Given the description of an element on the screen output the (x, y) to click on. 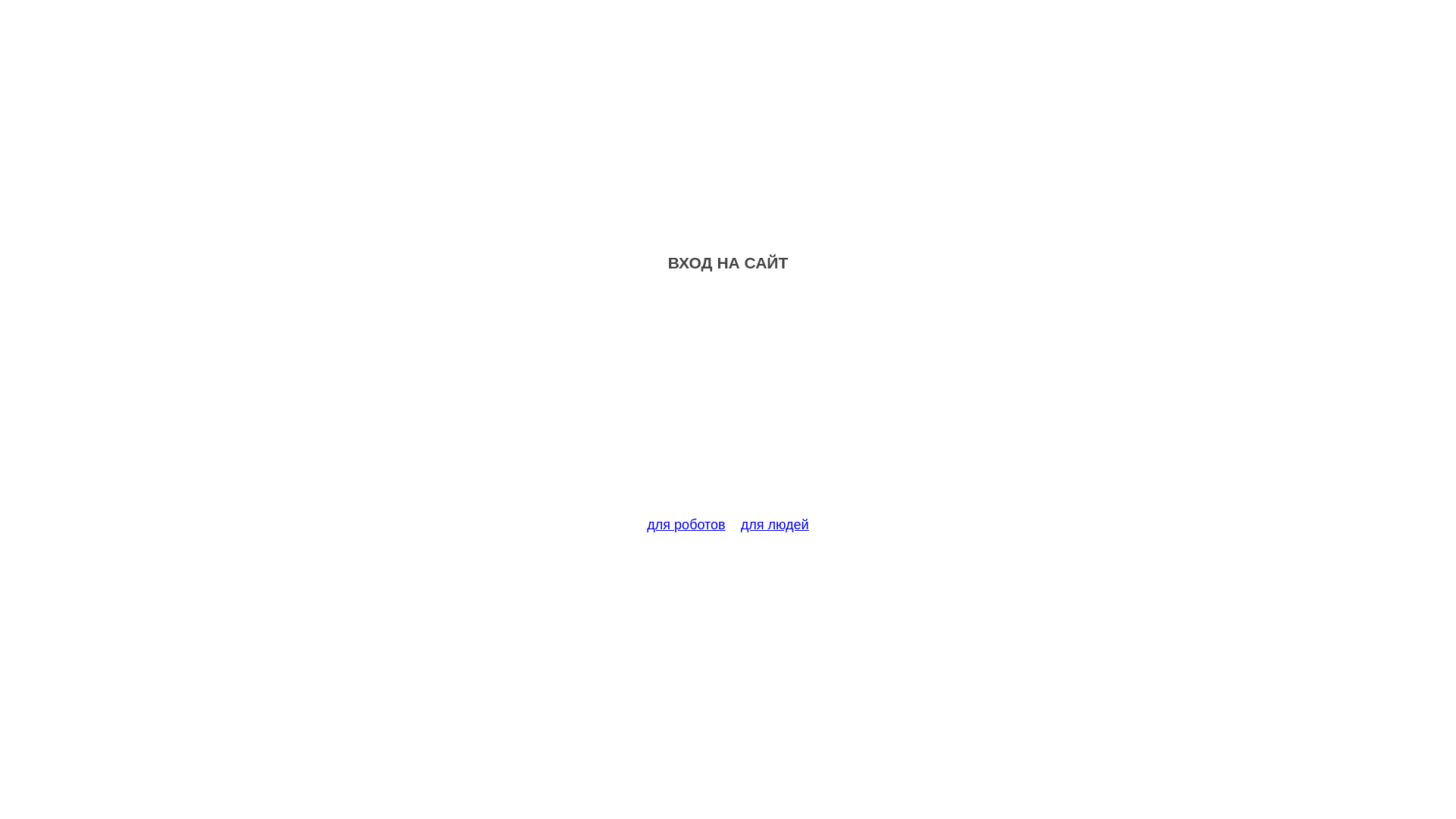
Advertisement Element type: hover (727, 403)
